Given the description of an element on the screen output the (x, y) to click on. 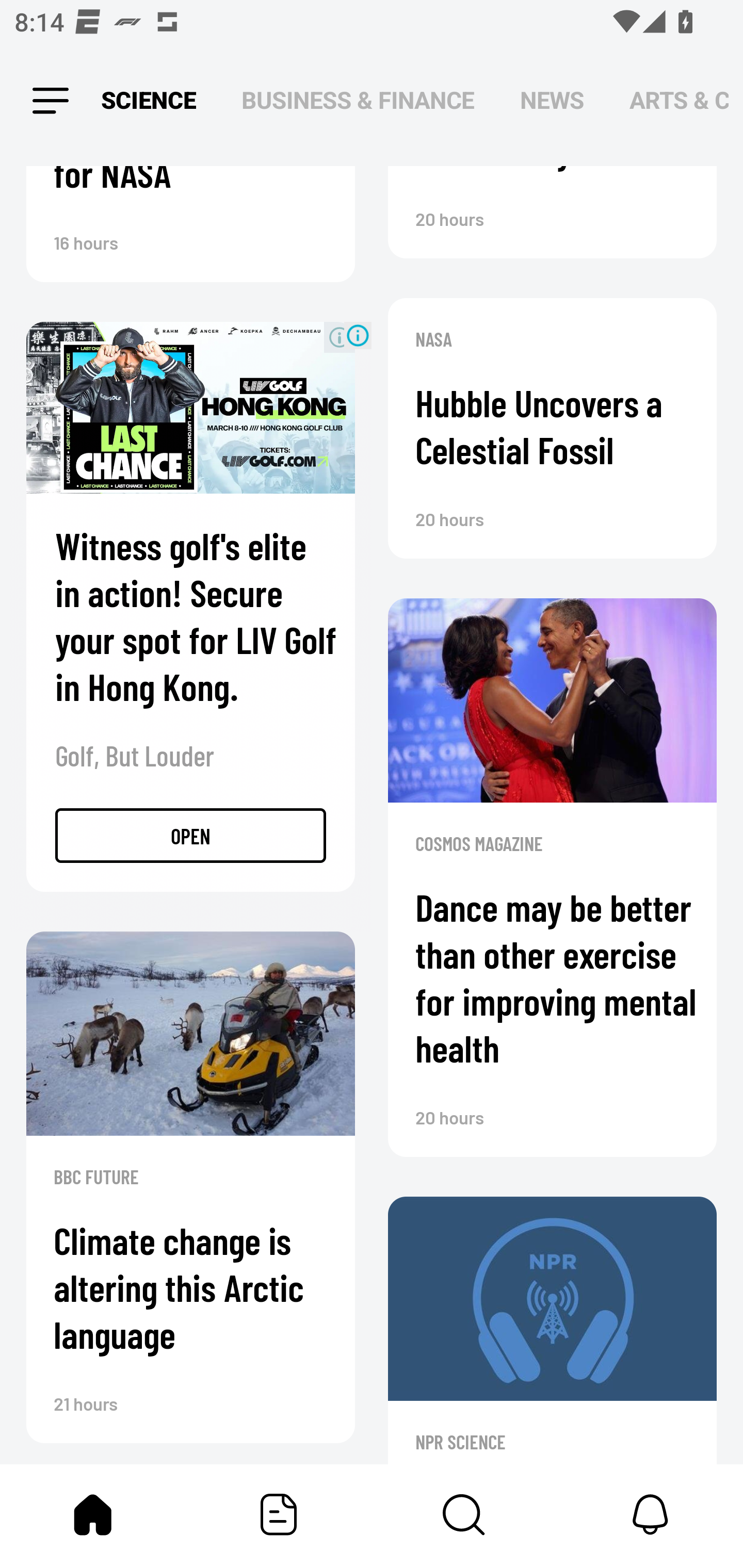
Leading Icon (50, 101)
BUSINESS & FINANCE (357, 100)
NEWS (551, 100)
ARTS & CULTURE (678, 100)
Ad Choices Icon (357, 335)
Featured (278, 1514)
Content Store (464, 1514)
Notifications (650, 1514)
